Given the description of an element on the screen output the (x, y) to click on. 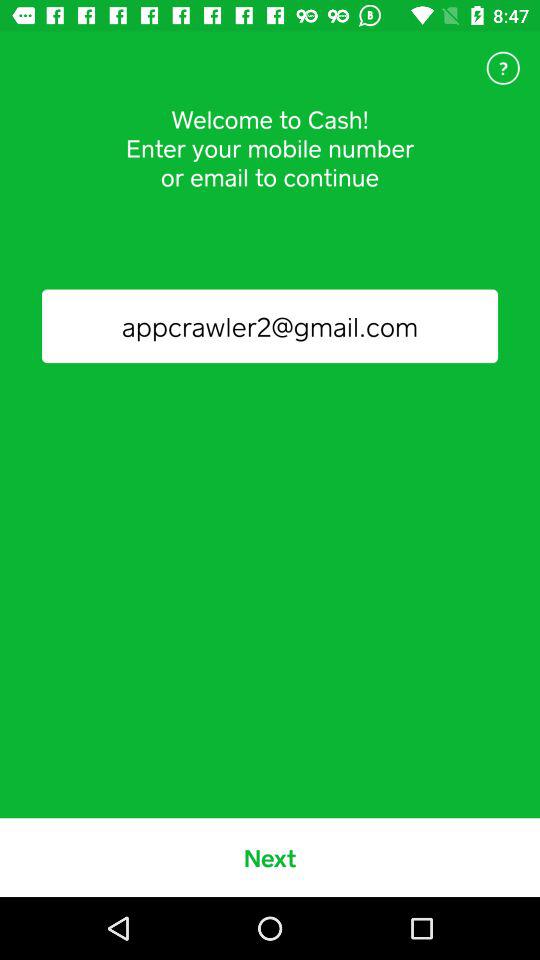
click the item to the right of welcome to cash (503, 68)
